Given the description of an element on the screen output the (x, y) to click on. 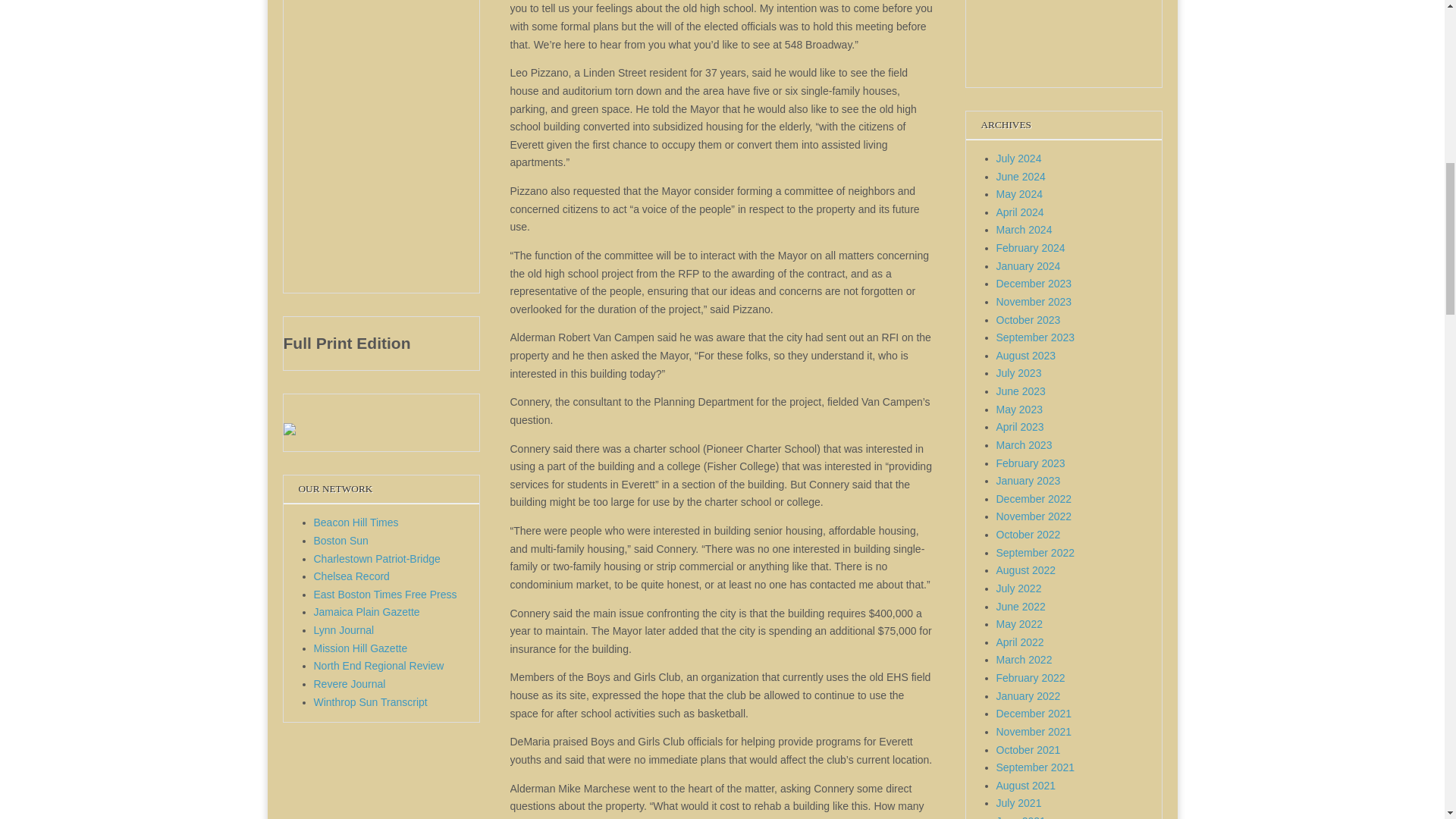
Boston Sun (341, 540)
Beacon Hill Times (356, 522)
Jamaica Plain Gazette (367, 612)
Charlestown Patriot-Bridge (377, 558)
East Boston Times Free Press (385, 594)
Chelsea Record (352, 576)
